Given the description of an element on the screen output the (x, y) to click on. 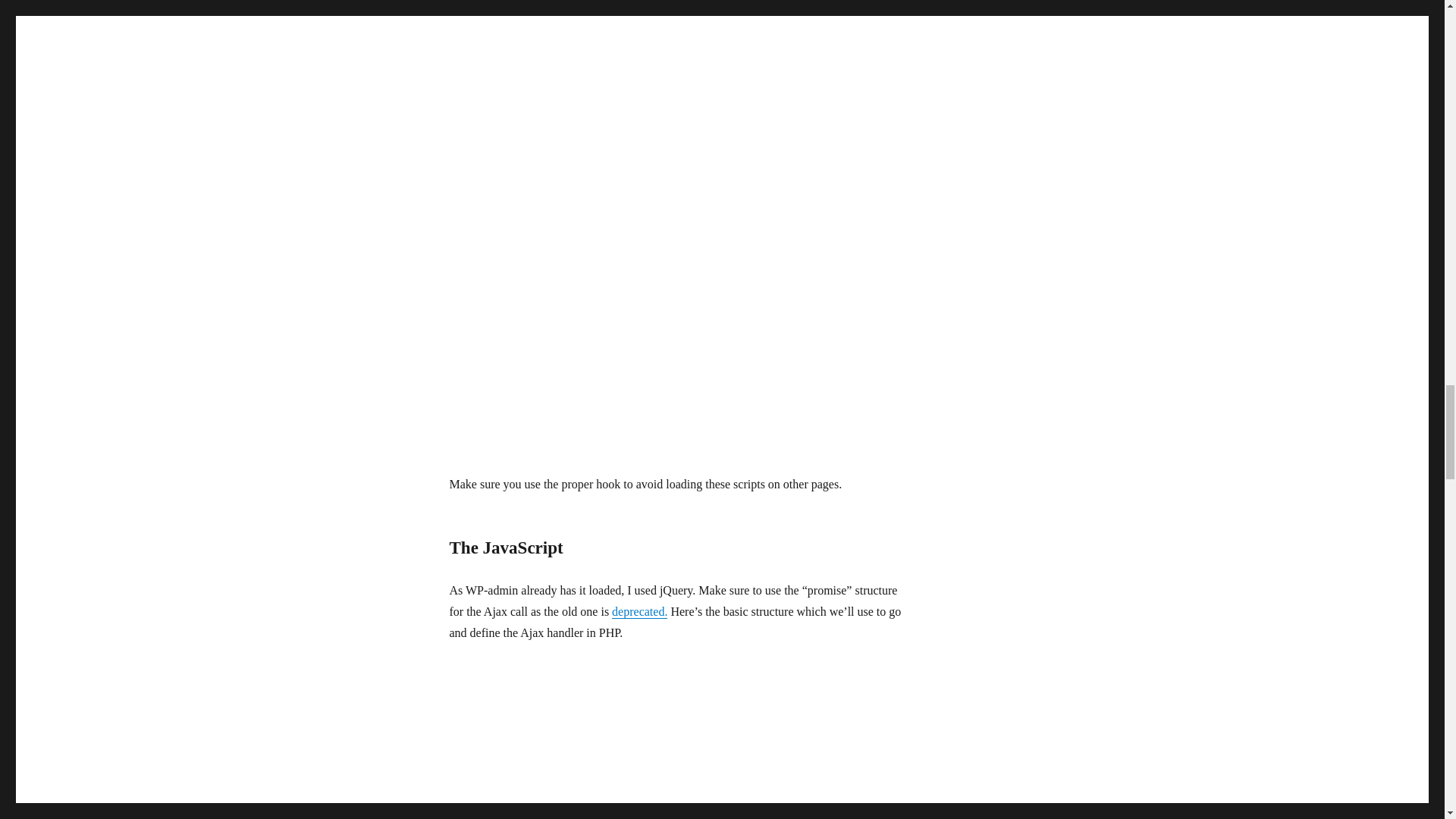
deprecated. (638, 611)
